Given the description of an element on the screen output the (x, y) to click on. 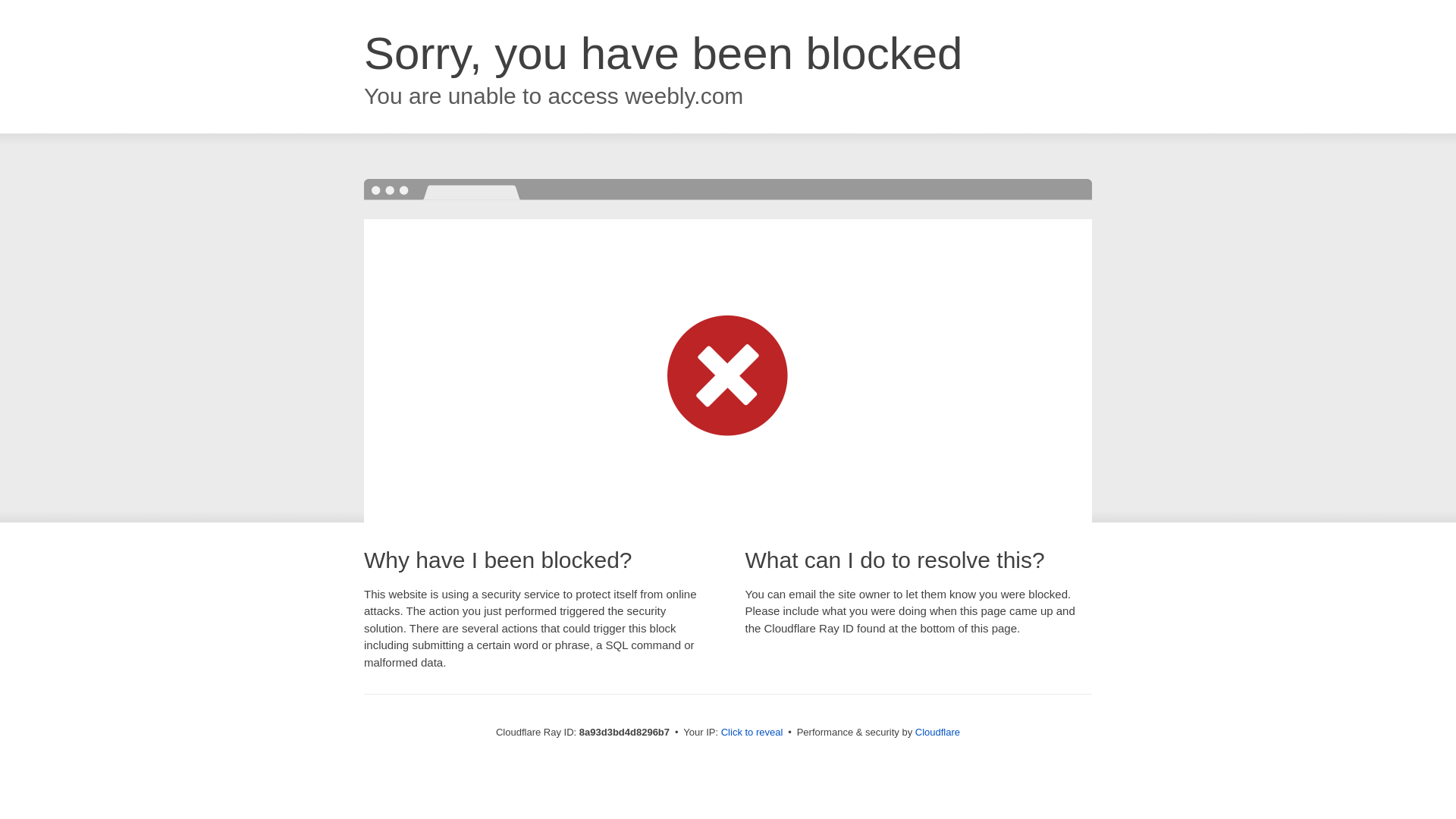
Click to reveal (751, 732)
Cloudflare (937, 731)
